Given the description of an element on the screen output the (x, y) to click on. 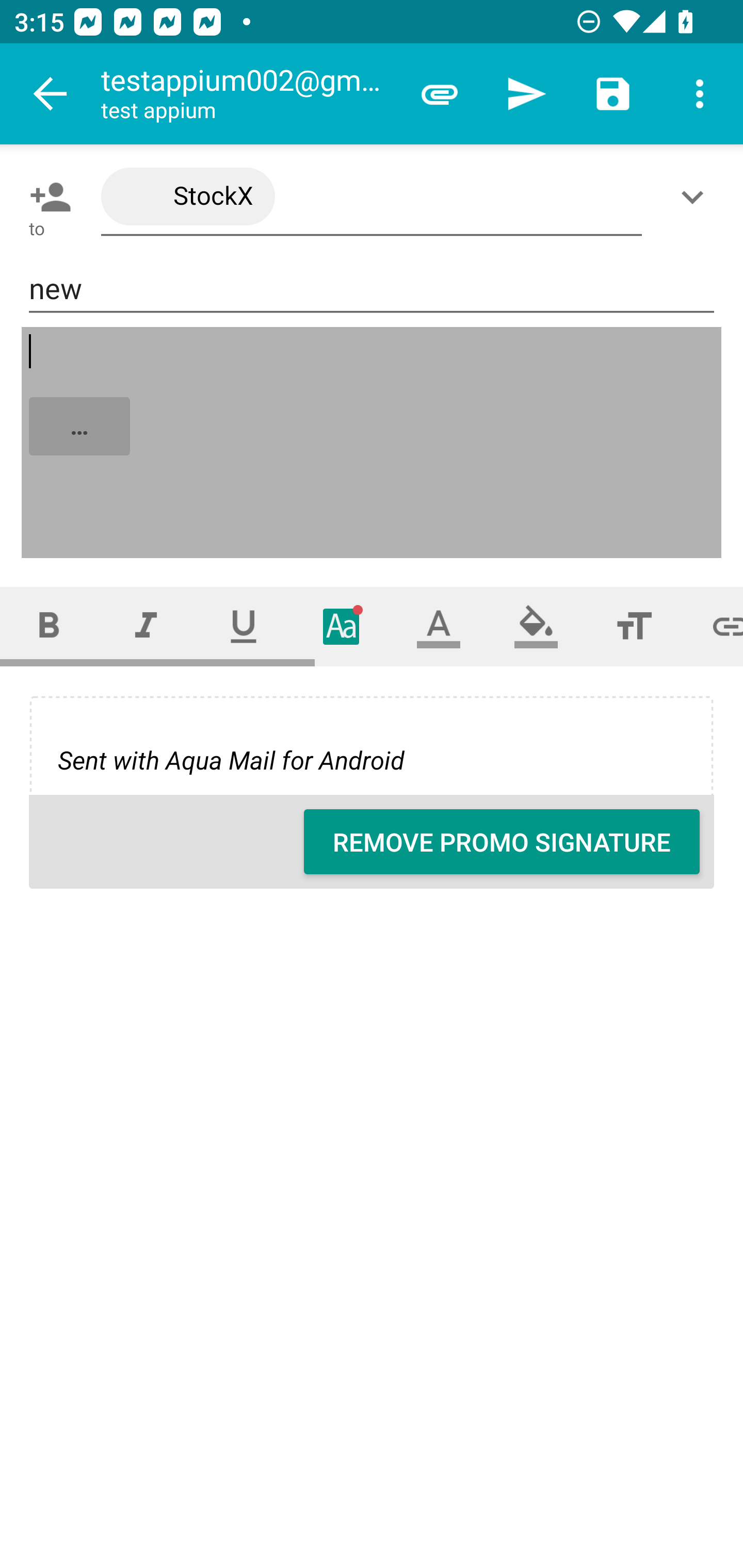
Navigate up (50, 93)
testappium002@gmail.com test appium (248, 93)
Attach (439, 93)
Send (525, 93)
Save (612, 93)
More options (699, 93)
StockX <noreply@stockx.com>,  (371, 197)
Pick contact: To (46, 196)
Show/Add CC/BCC (696, 196)
new (371, 288)

…
 (372, 442)
Bold (48, 626)
Italic (145, 626)
Underline (243, 626)
Typeface (font) (341, 626)
Text color (438, 626)
Fill color (536, 626)
Font size (633, 626)
REMOVE PROMO SIGNATURE (501, 841)
